Given the description of an element on the screen output the (x, y) to click on. 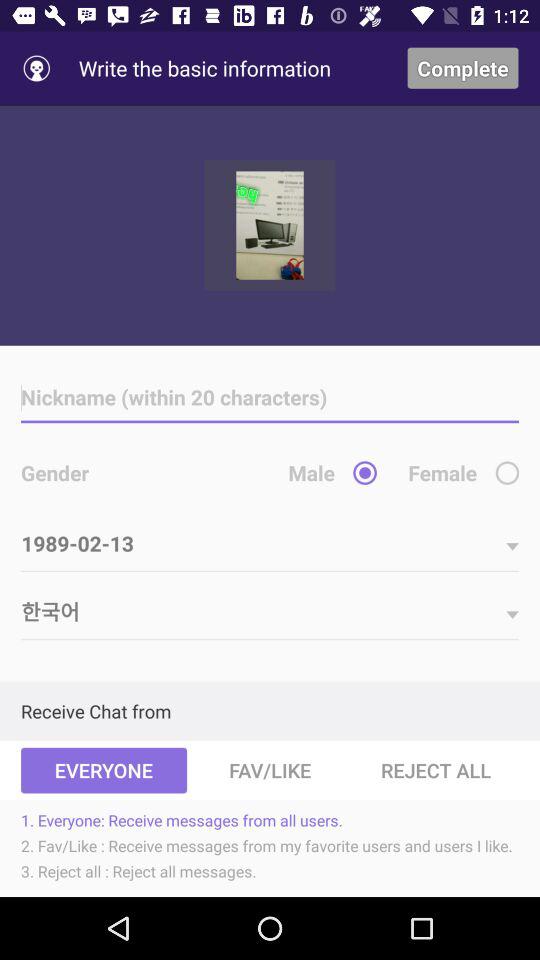
enter nickname (270, 398)
